Given the description of an element on the screen output the (x, y) to click on. 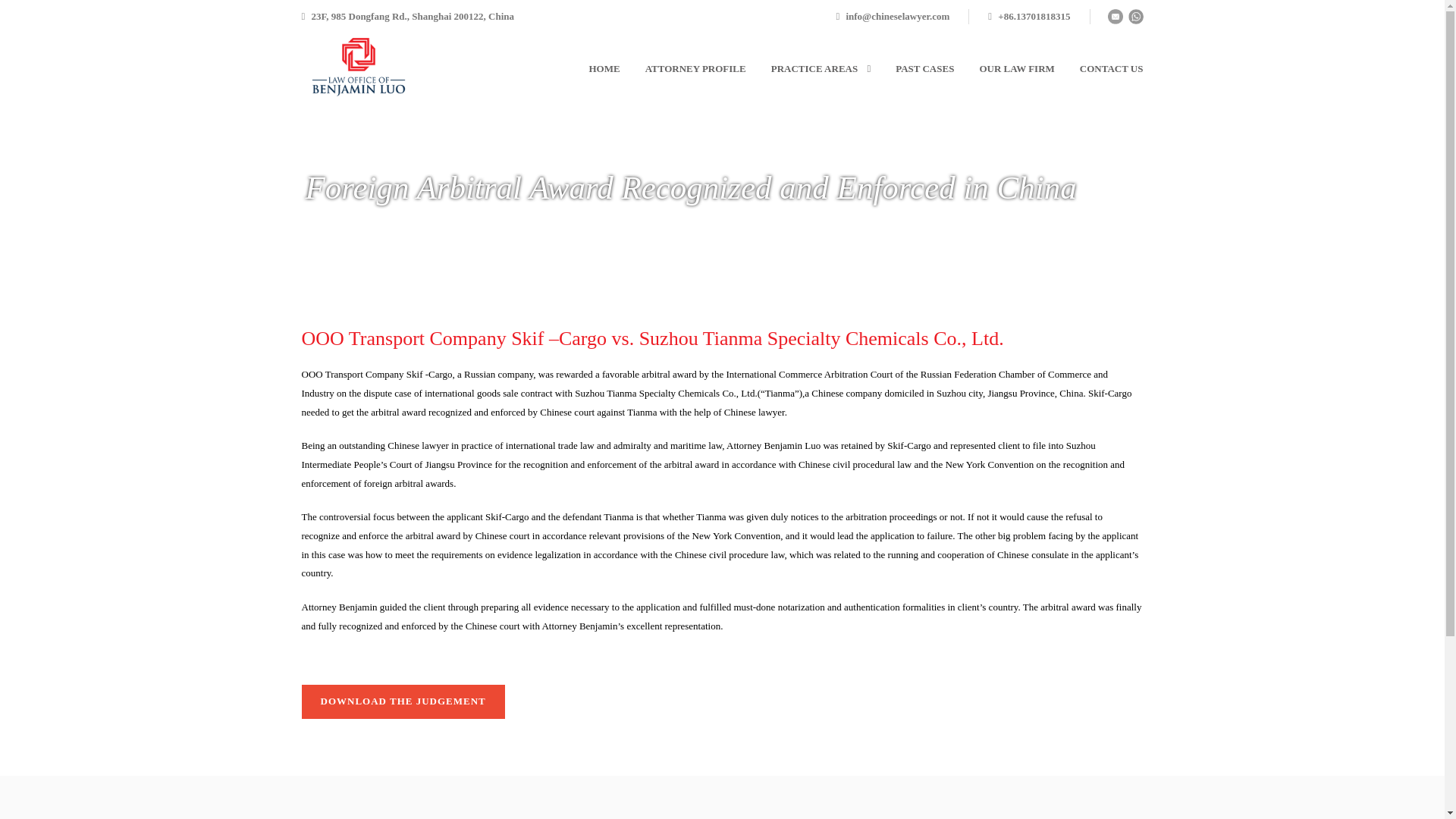
HOME (602, 68)
PAST CASES (911, 68)
DOWNLOAD THE JUDGEMENT (403, 701)
CONTACT US (1098, 68)
PRACTICE AREAS (807, 68)
OUR LAW FIRM (1003, 68)
ATTORNEY PROFILE (682, 68)
